Given the description of an element on the screen output the (x, y) to click on. 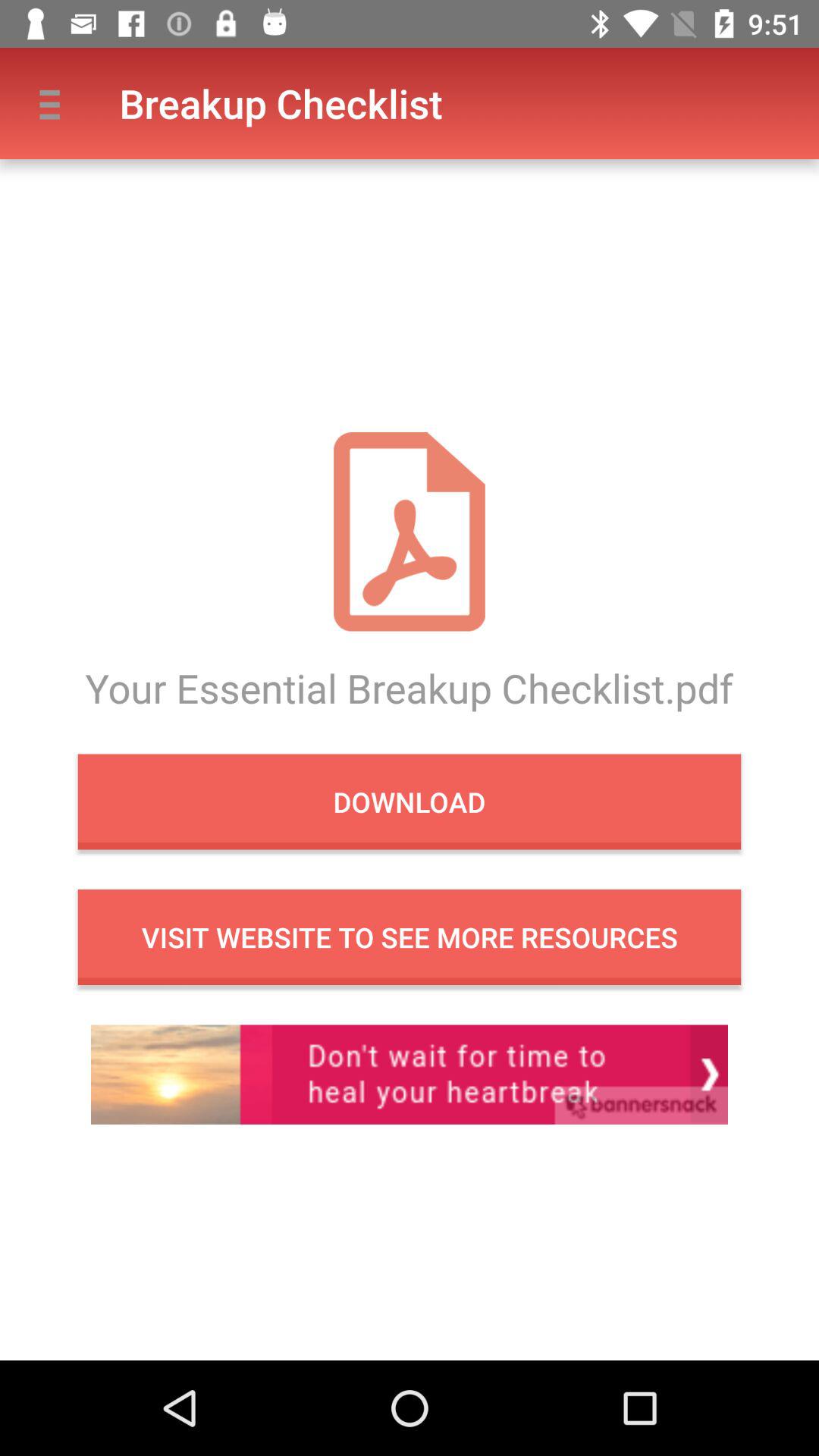
click on add (409, 1074)
